Given the description of an element on the screen output the (x, y) to click on. 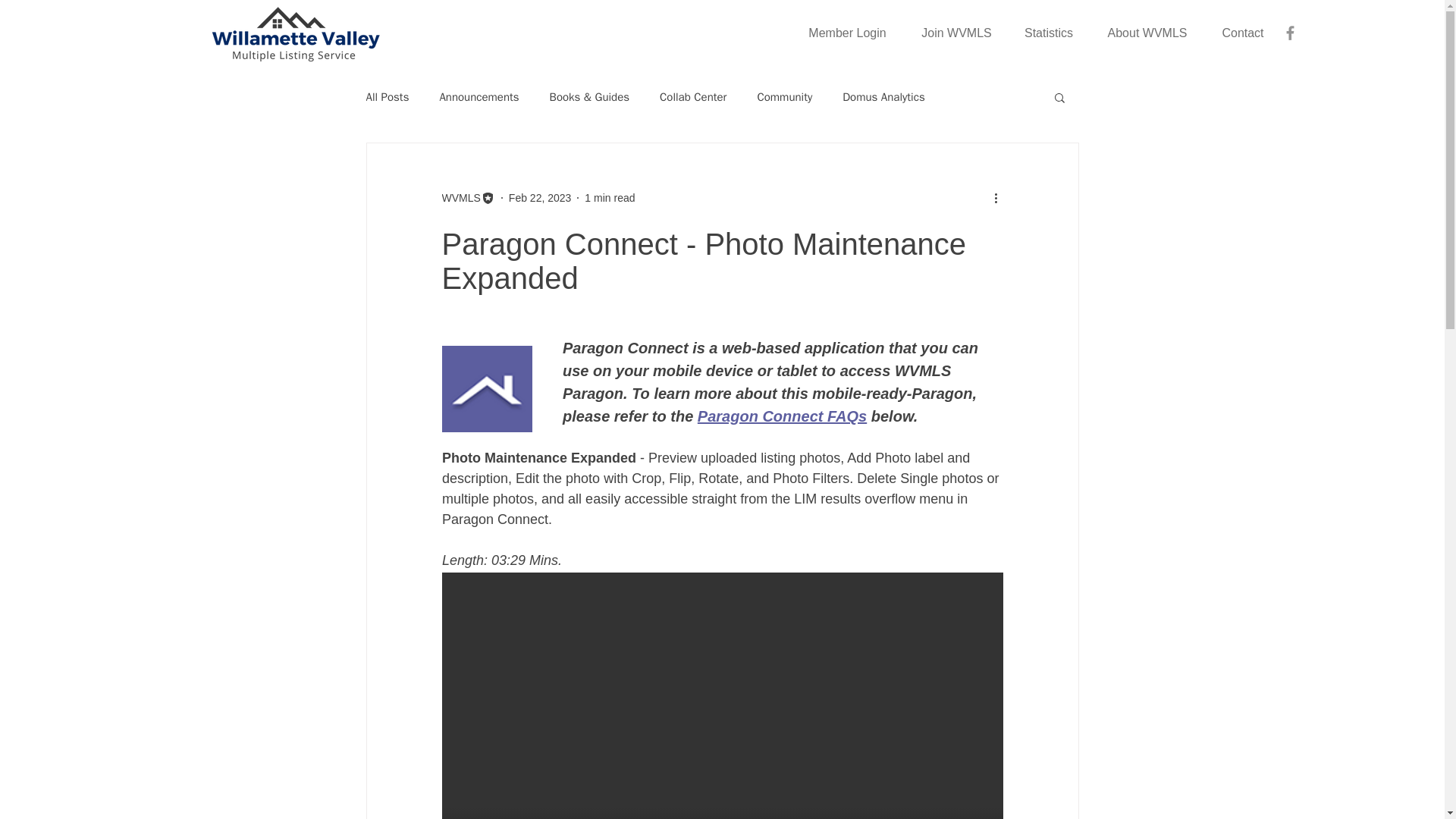
Community (784, 96)
Collab Center (692, 96)
About WVMLS (1147, 33)
1 min read (609, 196)
Join WVMLS (956, 33)
Domus Analytics (883, 96)
Paragon Connect FAQs (781, 417)
Announcements (478, 96)
Feb 22, 2023 (540, 196)
Member Login (847, 33)
All Posts (387, 96)
Statistics (1048, 33)
WVMLS (468, 197)
Contact (1243, 33)
WVMLS (460, 197)
